Given the description of an element on the screen output the (x, y) to click on. 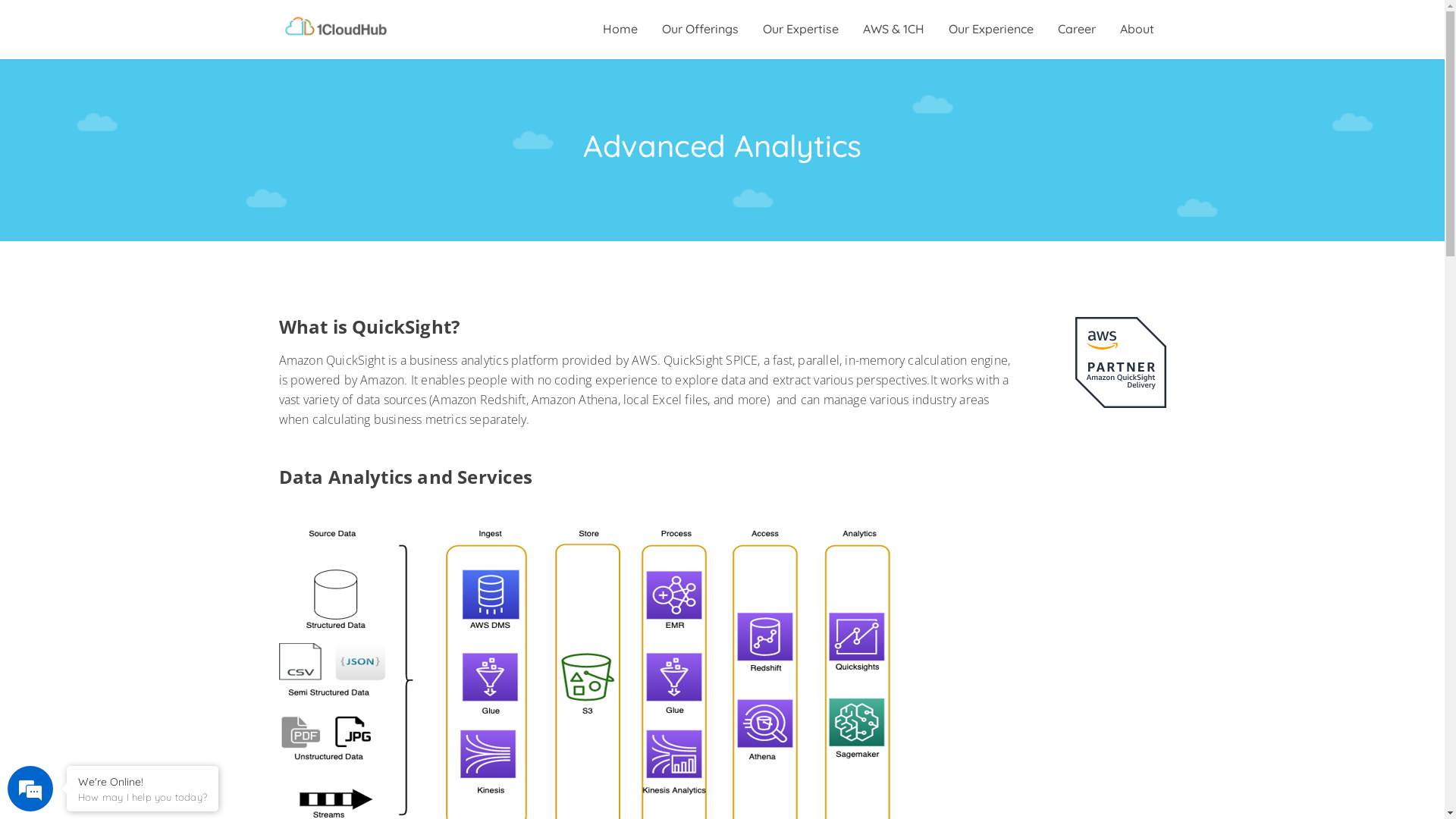
Our Expertise Element type: text (800, 29)
Our Experience Element type: text (989, 29)
About Element type: text (1136, 29)
AWS & 1CH Element type: text (893, 29)
Career Element type: text (1075, 29)
Our Offerings Element type: text (699, 29)
Home Element type: text (619, 29)
